Given the description of an element on the screen output the (x, y) to click on. 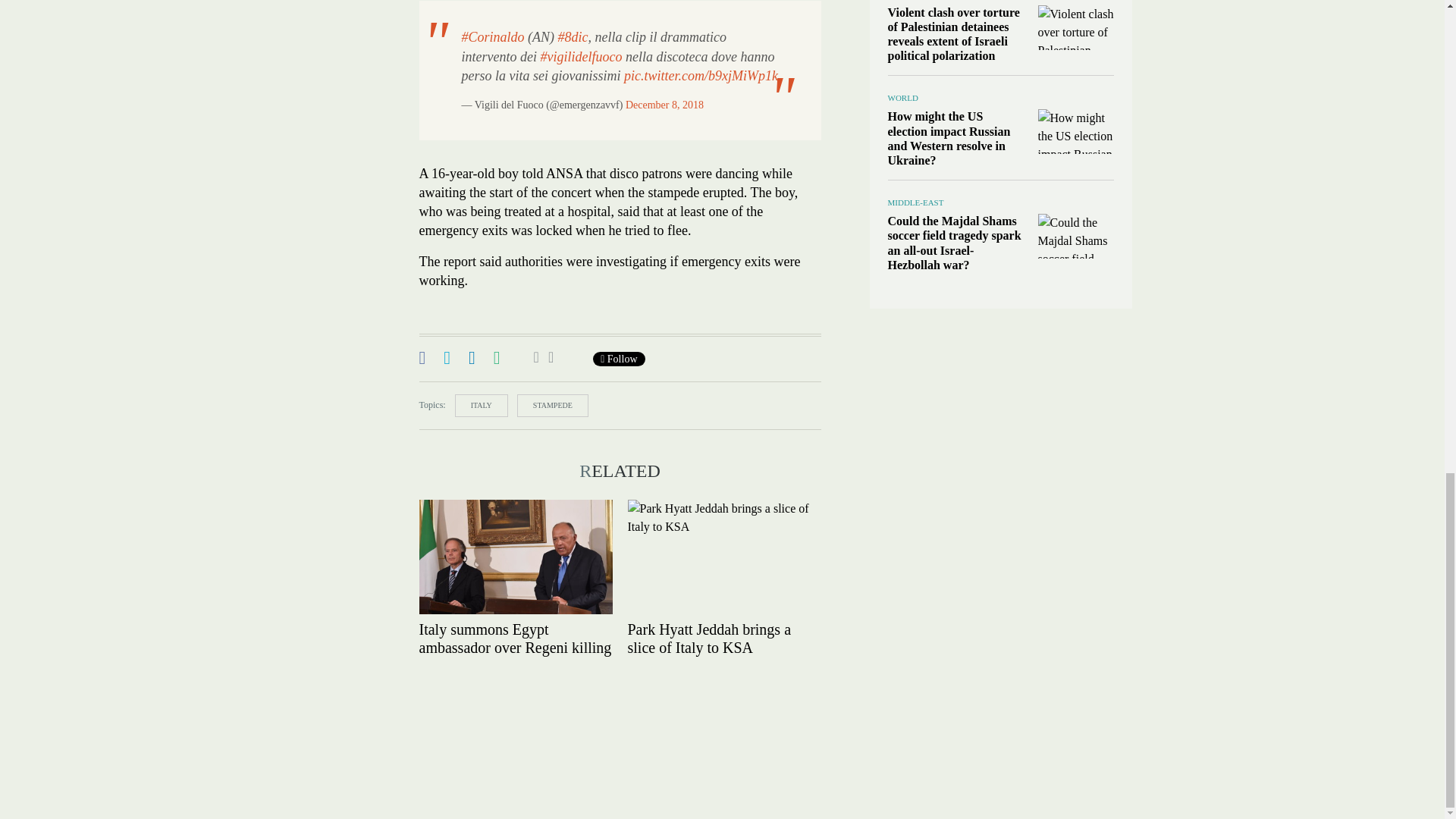
Italy summons Egypt ambassador over Regeni killing (515, 556)
